Given the description of an element on the screen output the (x, y) to click on. 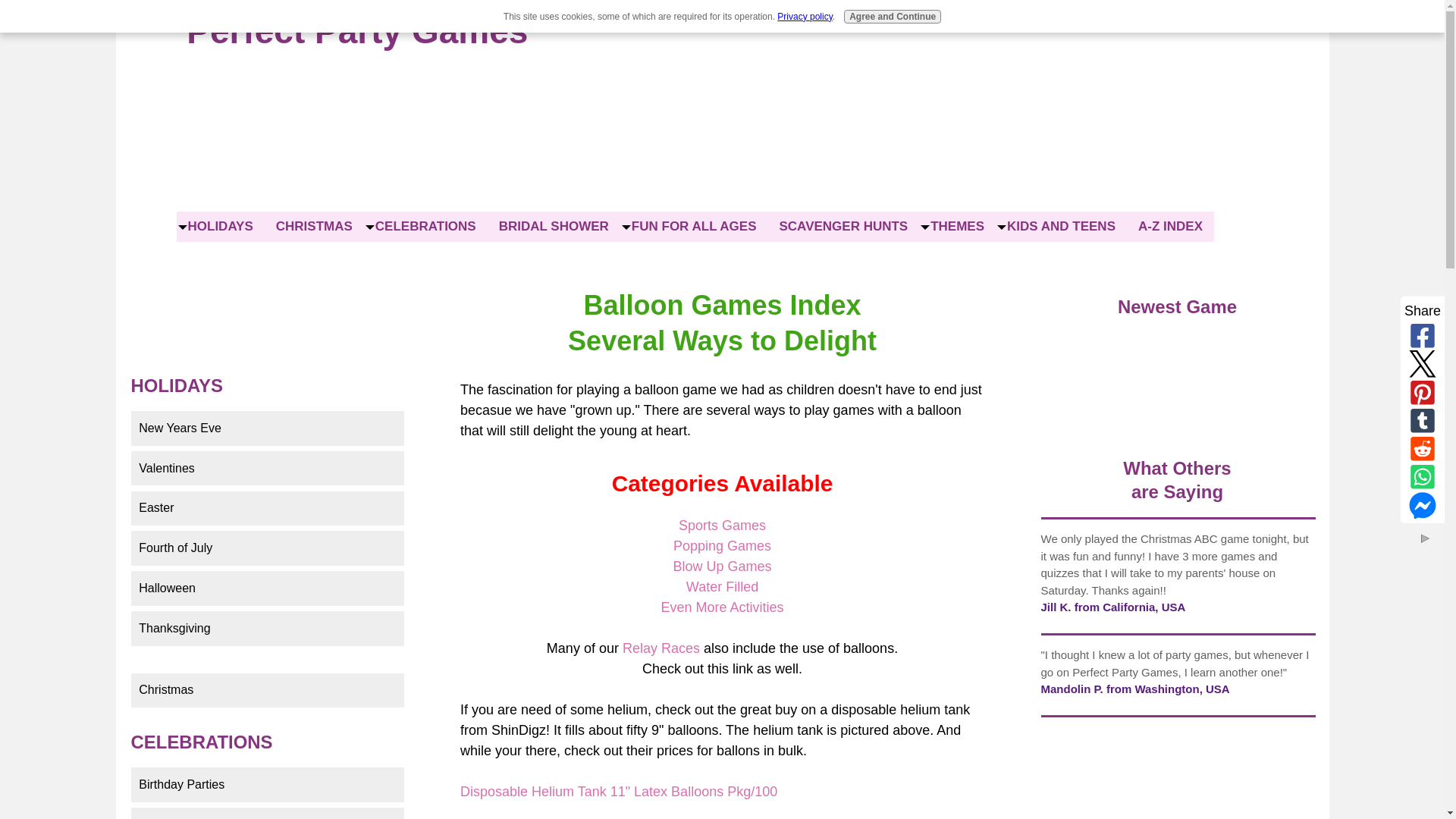
Blow Up Games (721, 566)
Sports Games (721, 525)
BRIDAL SHOWER (553, 226)
SCAVENGER HUNTS (842, 226)
CHRISTMAS (314, 226)
A-Z INDEX (1170, 226)
Popping Games (721, 545)
Perfect Party Games (357, 30)
